Given the description of an element on the screen output the (x, y) to click on. 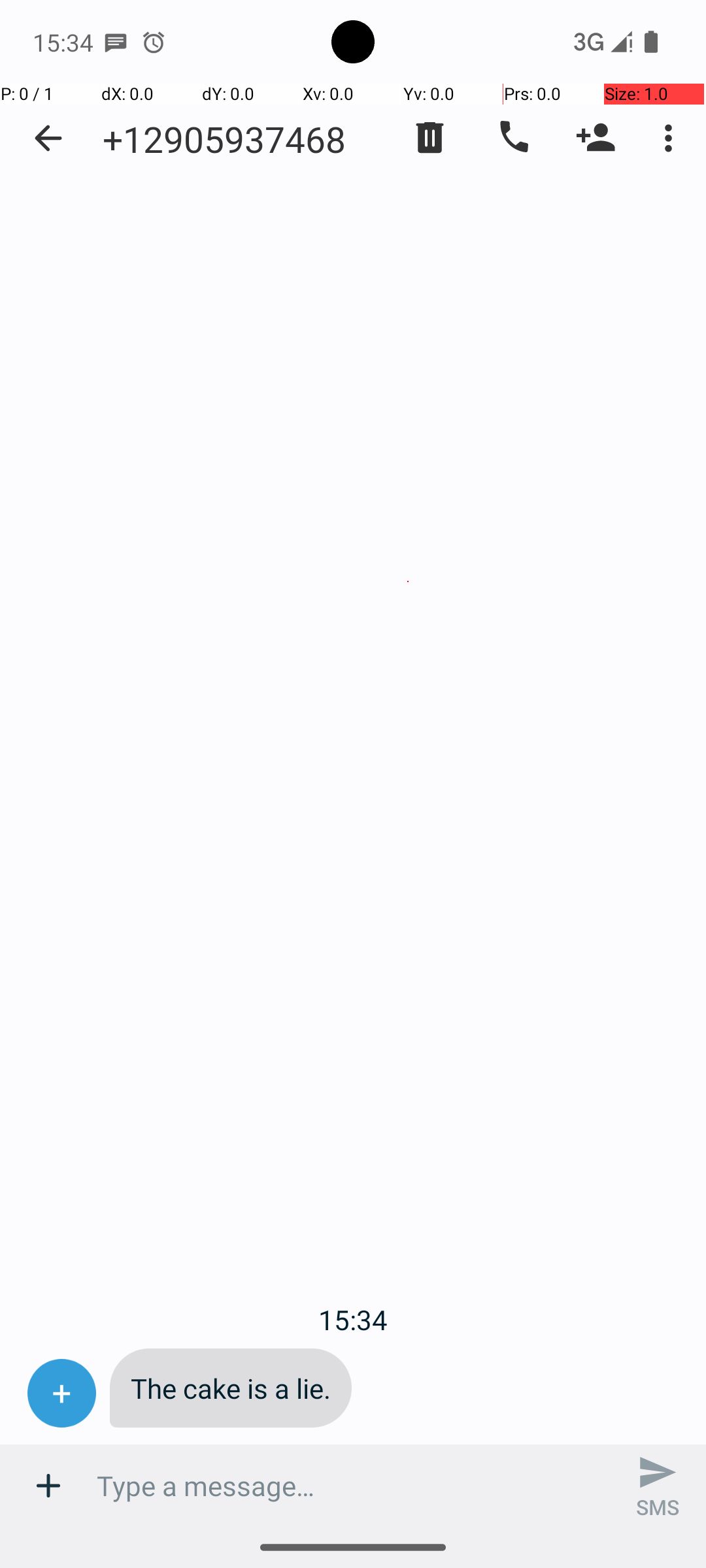
+12905937468 Element type: android.widget.TextView (223, 138)
The cake is a lie. Element type: android.widget.TextView (230, 1387)
